Given the description of an element on the screen output the (x, y) to click on. 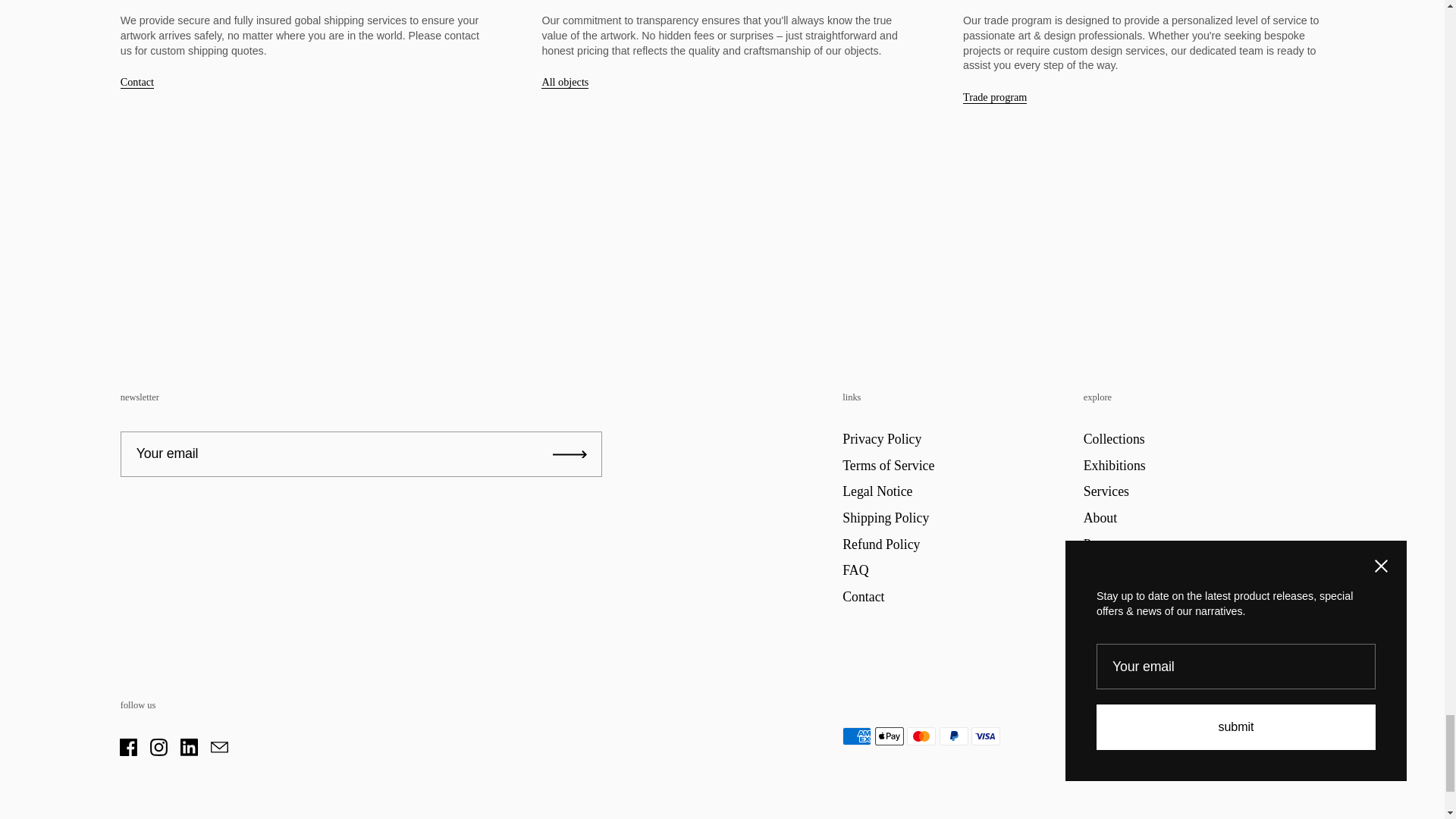
Trade Interior Account (994, 97)
Contact (137, 82)
Explore the collections (564, 82)
